Given the description of an element on the screen output the (x, y) to click on. 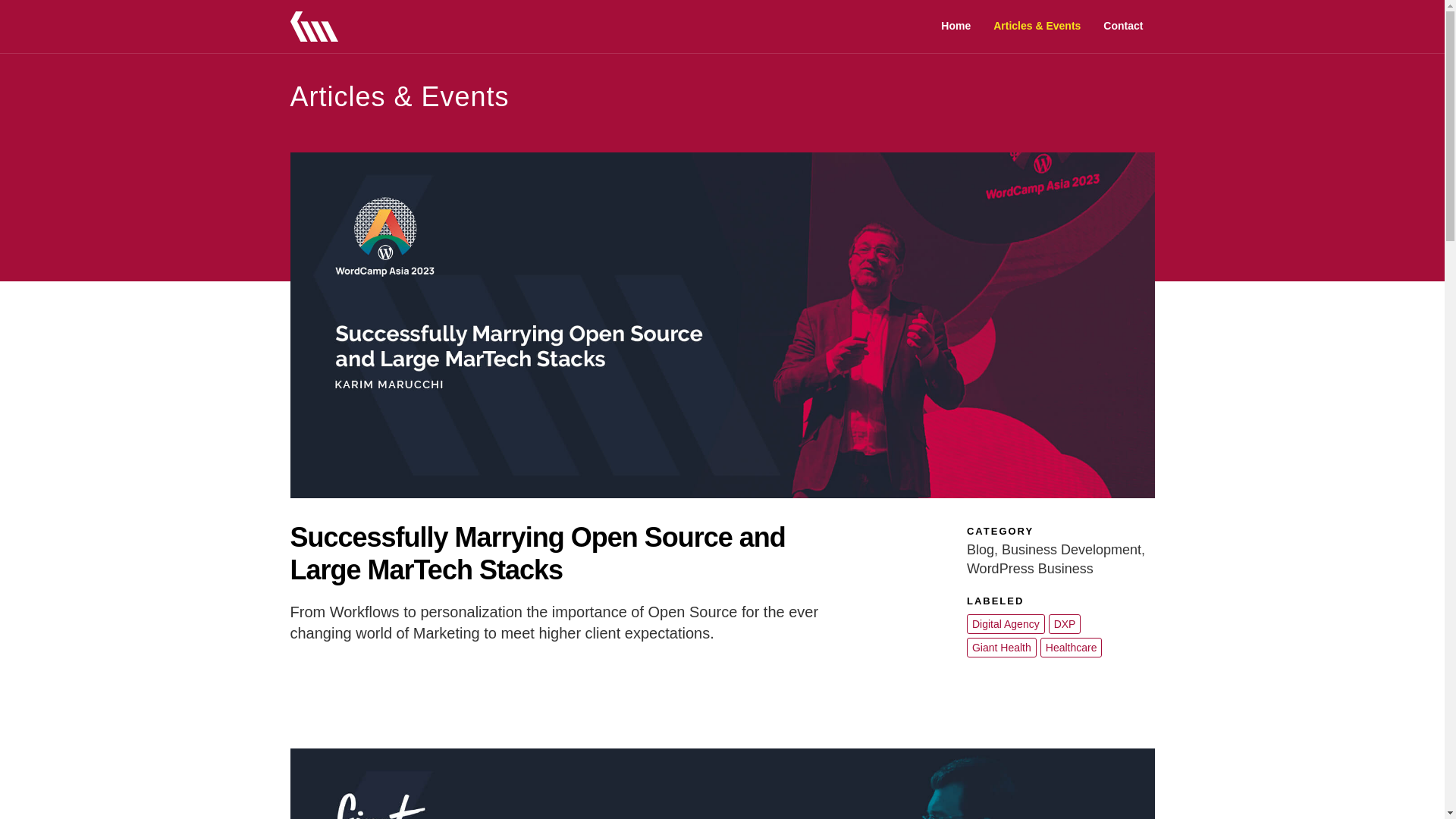
Blog (980, 549)
Successfully Marrying Open Source and Large MarTech Stacks (536, 553)
WordPress Business (1029, 568)
Digital Agency (1005, 623)
Giant Health (1001, 647)
Healthcare (1071, 647)
Contact (1123, 26)
DXP (1064, 623)
Business Development (1071, 549)
Home (955, 26)
Successfully Marrying Open Source and Large MarTech Stacks (721, 323)
Successfully Marrying Open Source and Large MarTech Stacks (536, 553)
